Given the description of an element on the screen output the (x, y) to click on. 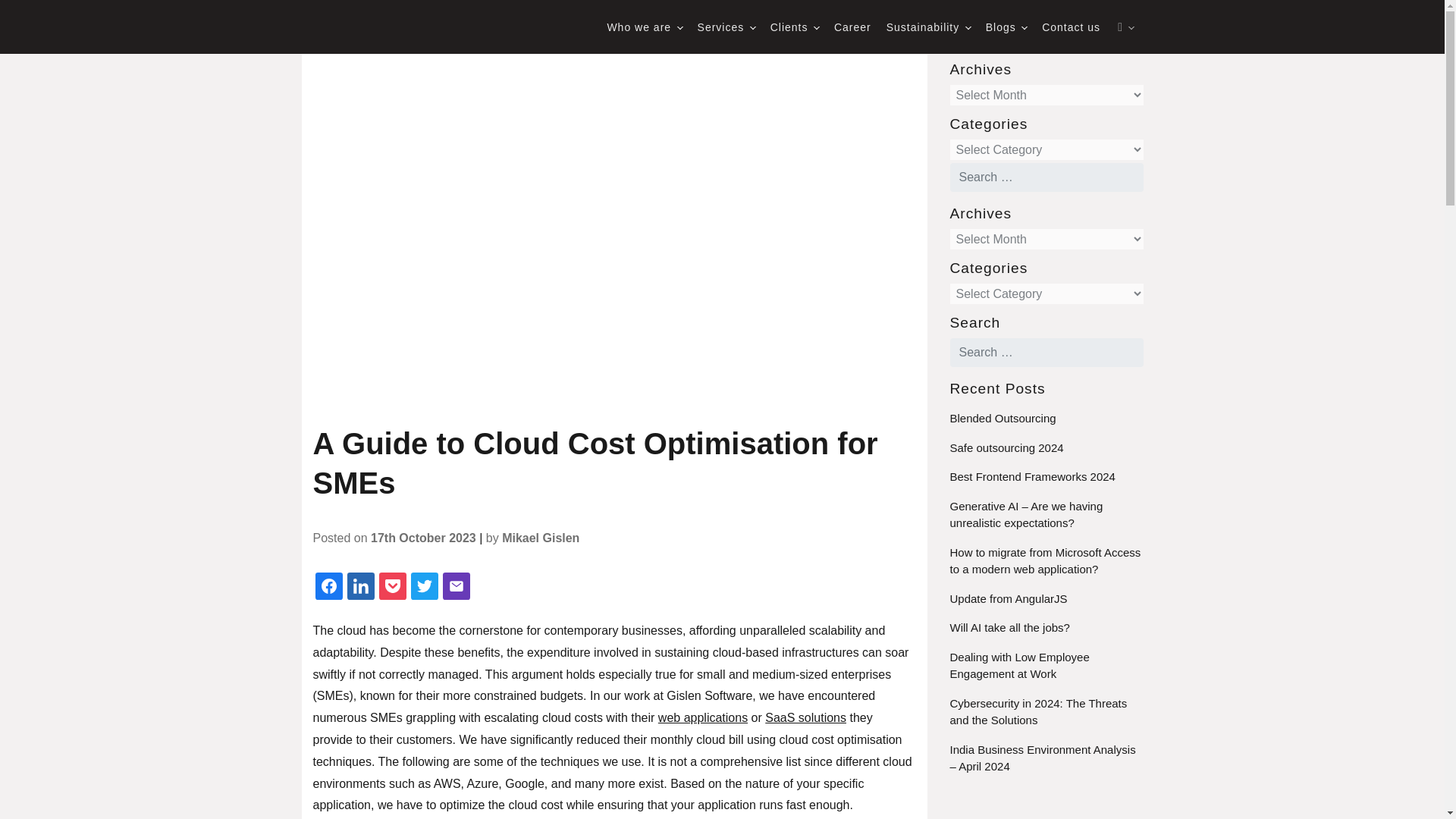
Who we are (644, 26)
Career (852, 26)
Services (726, 26)
Clients (794, 26)
Services (726, 26)
Blogs (1005, 26)
Who we are (644, 26)
Sustainability (928, 26)
